Given the description of an element on the screen output the (x, y) to click on. 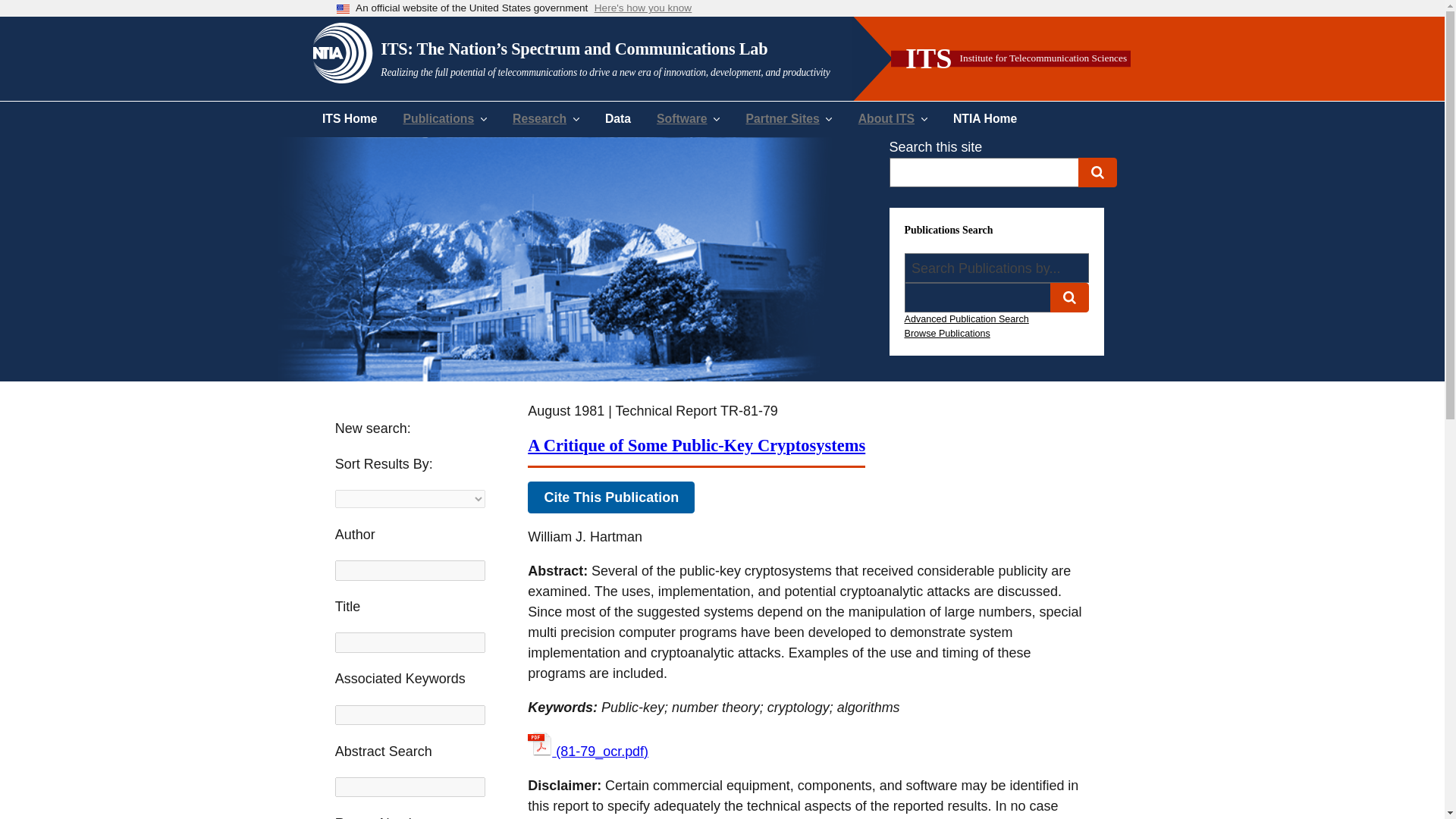
National Telecommunications and Information Administration (342, 50)
ITS Home (349, 118)
Here's how you know (642, 8)
Cite This Publication (610, 497)
Software (687, 118)
Home (613, 51)
Research (545, 118)
Partner Sites (789, 118)
Advanced Publication Search (965, 319)
Publications (445, 118)
About ITS (892, 118)
Data (617, 118)
A Critique of Some Public-Key Cryptosystems (695, 445)
Browse Publications (947, 332)
NTIA Home (984, 118)
